Given the description of an element on the screen output the (x, y) to click on. 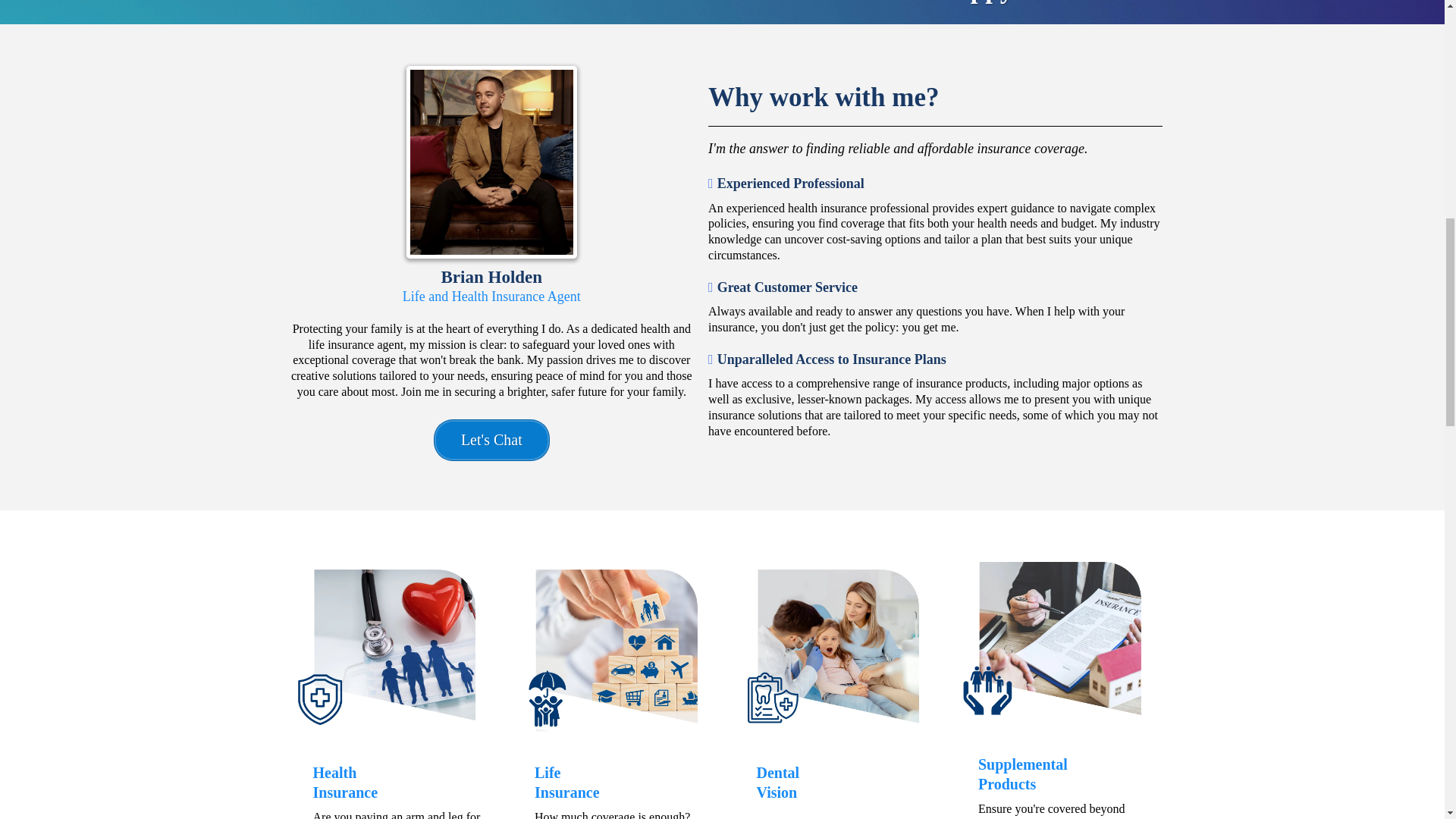
Let's Chat (491, 440)
